Given the description of an element on the screen output the (x, y) to click on. 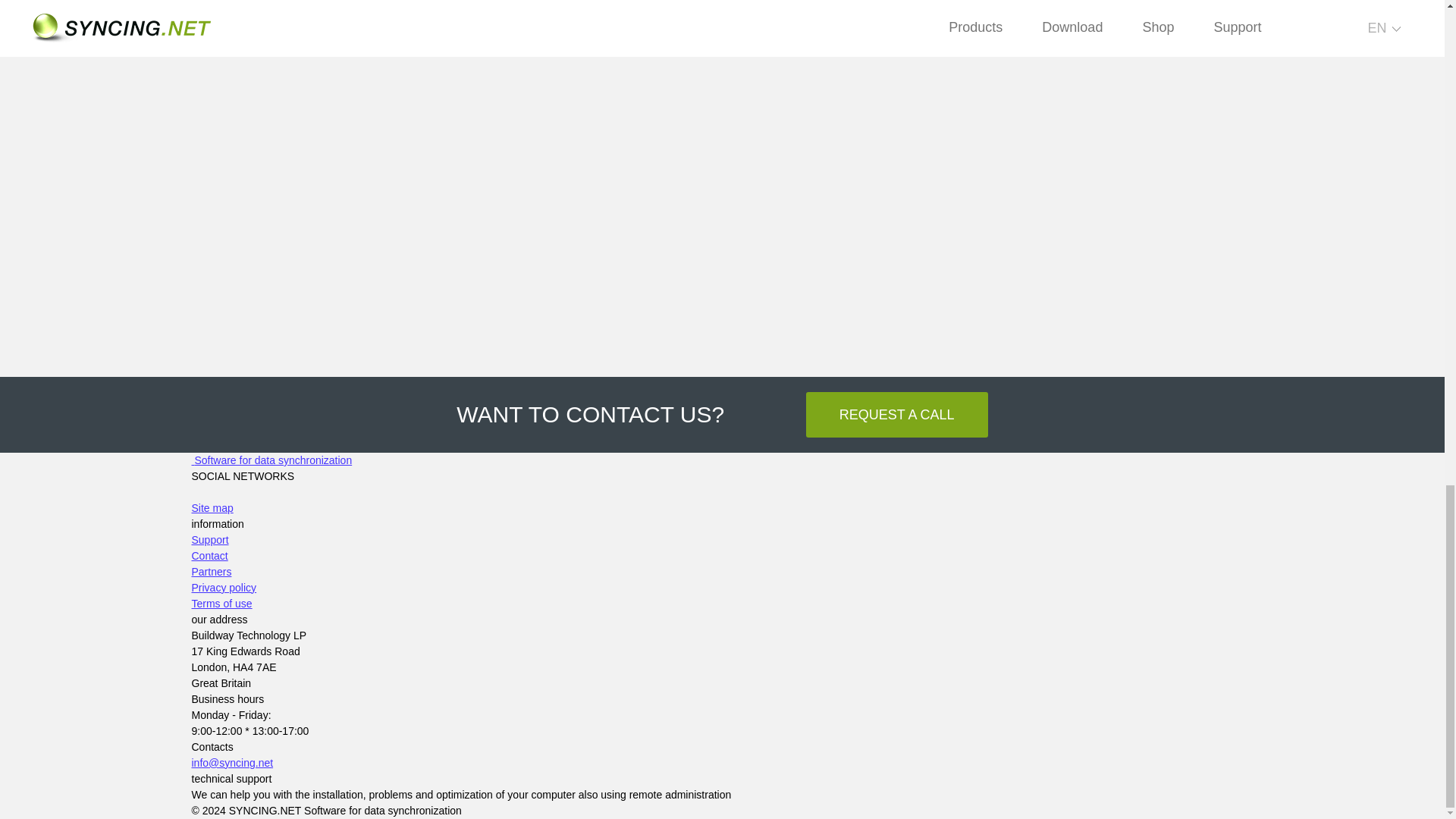
Contact (208, 555)
Site map (721, 508)
Software for data synchronization (271, 460)
Support (209, 539)
